Given the description of an element on the screen output the (x, y) to click on. 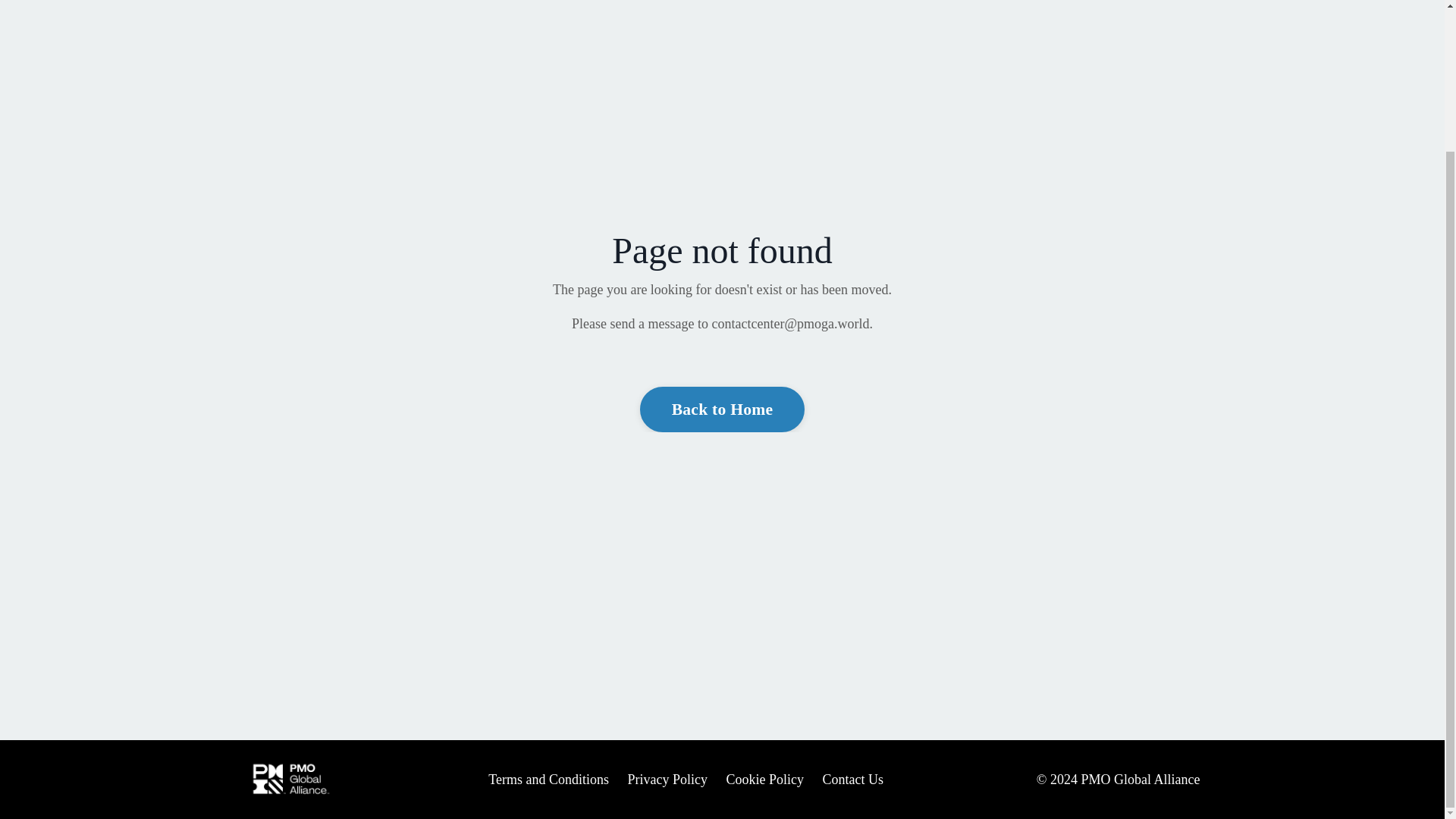
Privacy Policy (667, 779)
Cookie Policy (765, 779)
Terms and Conditions (547, 779)
Contact Us (852, 779)
Back to Home (722, 409)
